Given the description of an element on the screen output the (x, y) to click on. 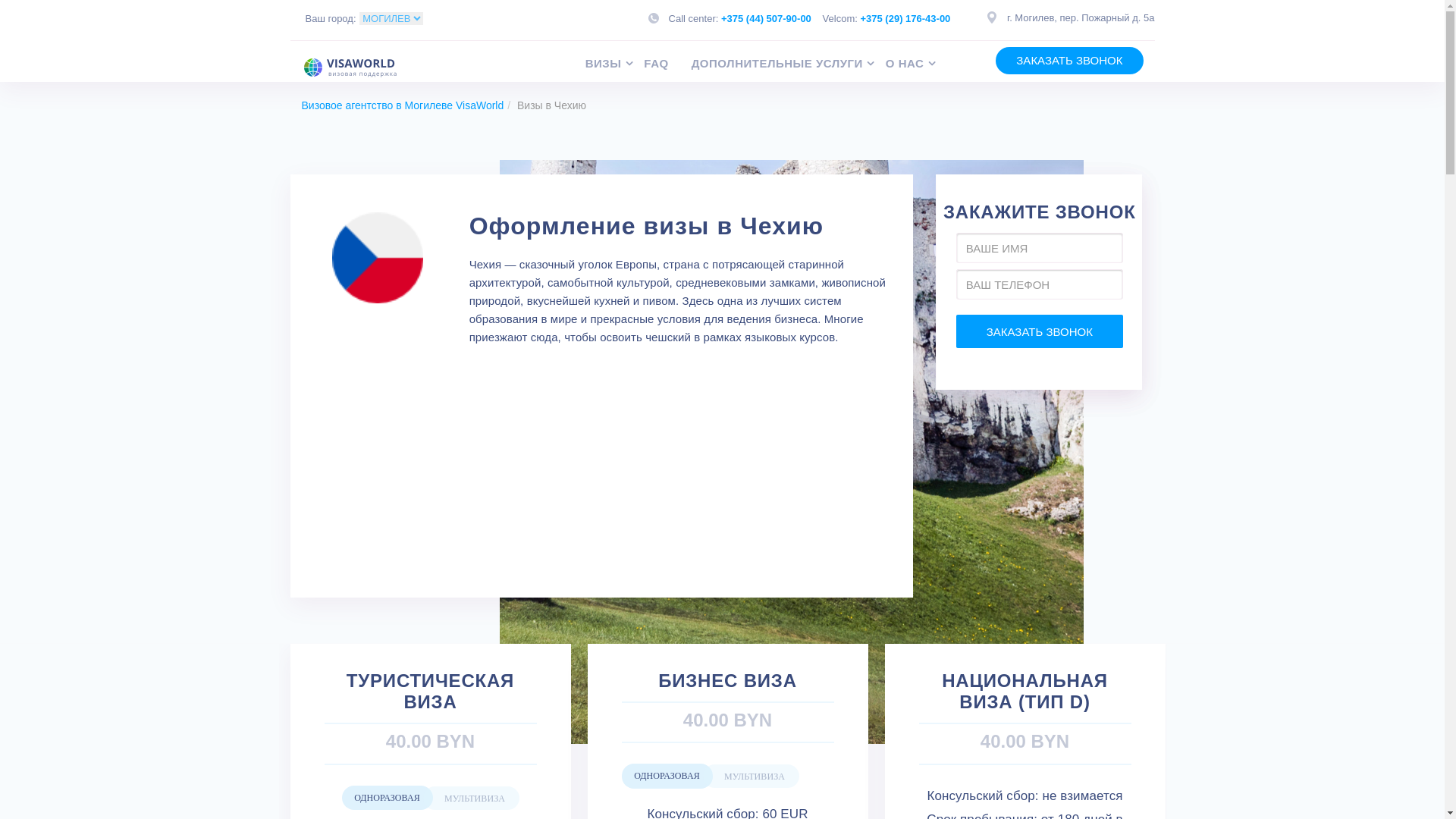
FAQ Element type: text (666, 63)
+375 (29) 176-43-00 Element type: text (904, 18)
+375 (44) 507-90-00 Element type: text (766, 18)
